Given the description of an element on the screen output the (x, y) to click on. 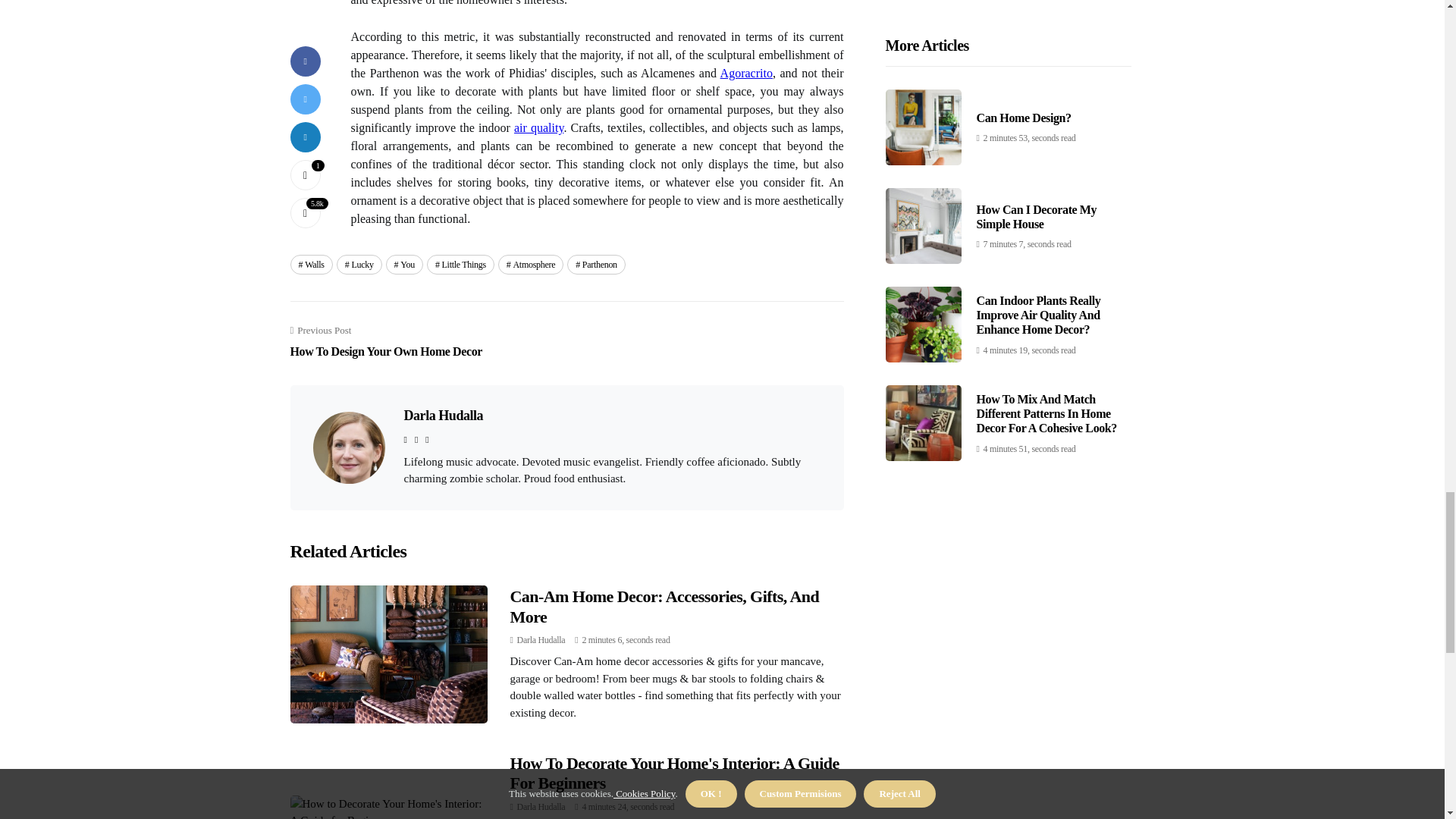
Parthenon (385, 341)
Agoracrito (596, 264)
Can-Am Home Decor: Accessories, Gifts, And More (746, 72)
Posts by Darla Hudalla (663, 606)
Lucky (541, 639)
air quality (358, 264)
Posts by Darla Hudalla (538, 127)
Little Things (541, 806)
How To Decorate Your Home'S Interior: A Guide For Beginners (460, 264)
Atmosphere (673, 772)
You (530, 264)
Darla Hudalla (404, 264)
Walls (541, 639)
Darla Hudalla (310, 264)
